Given the description of an element on the screen output the (x, y) to click on. 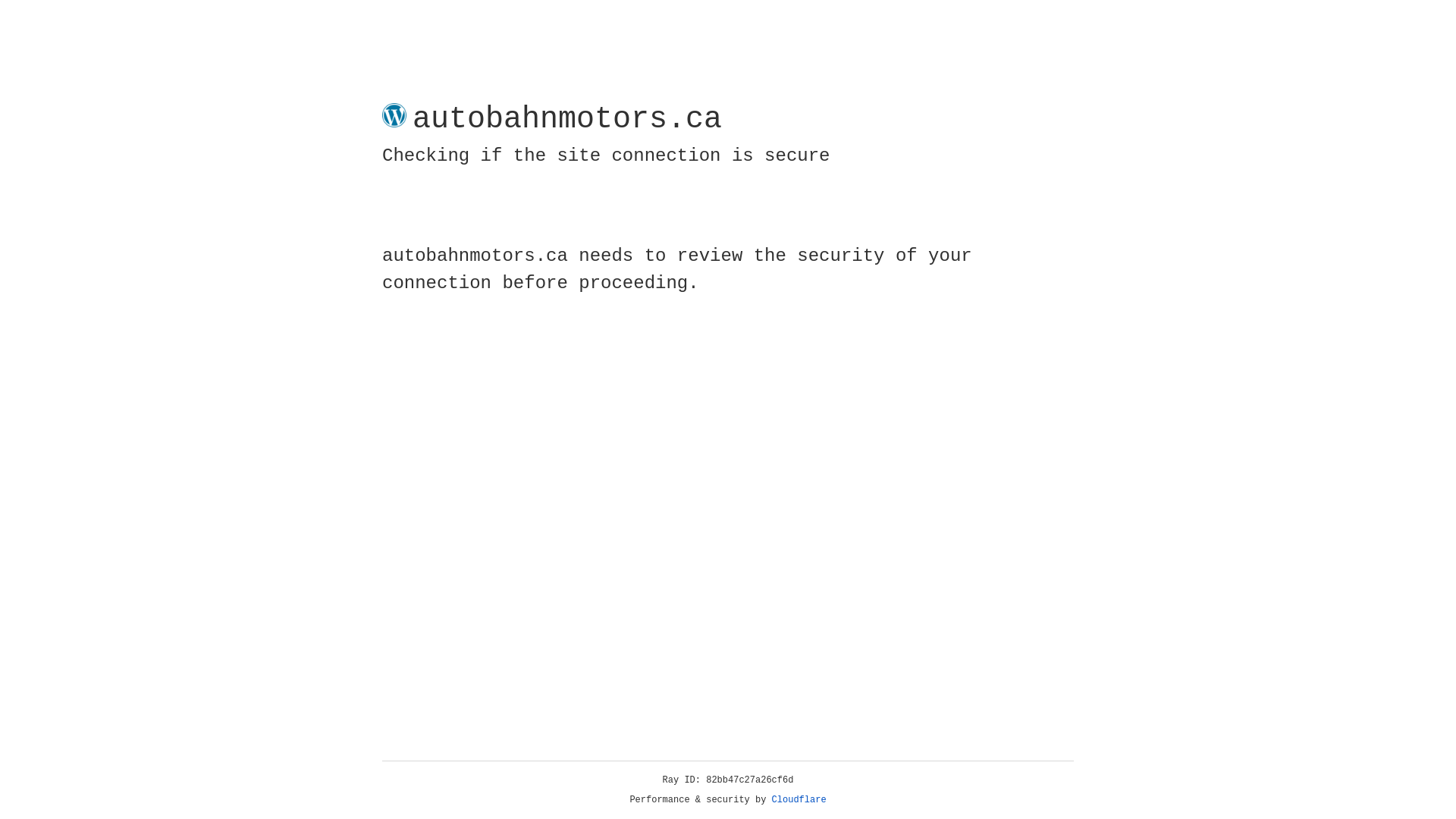
Cloudflare Element type: text (798, 799)
